Given the description of an element on the screen output the (x, y) to click on. 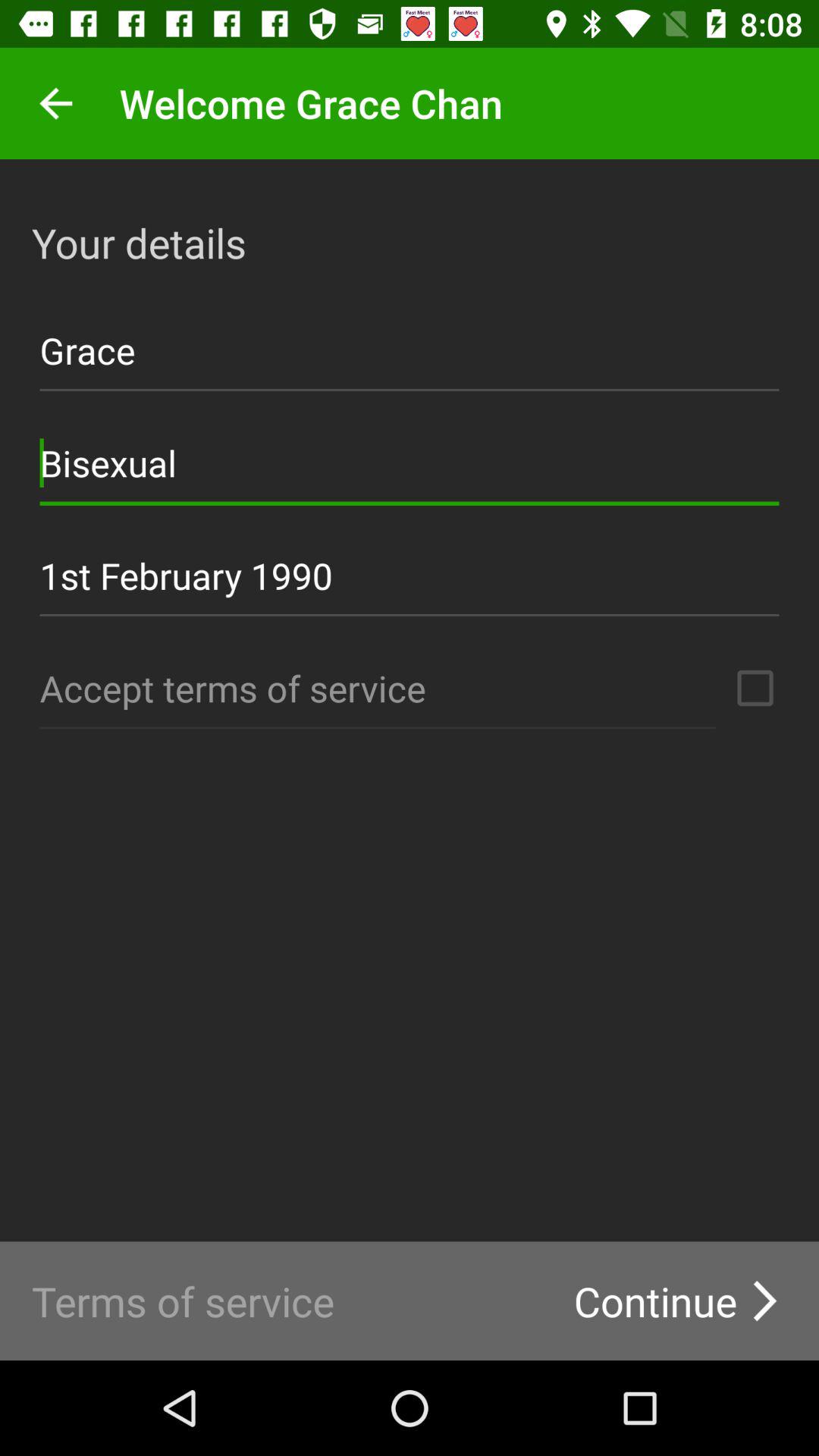
terms of service (755, 688)
